Given the description of an element on the screen output the (x, y) to click on. 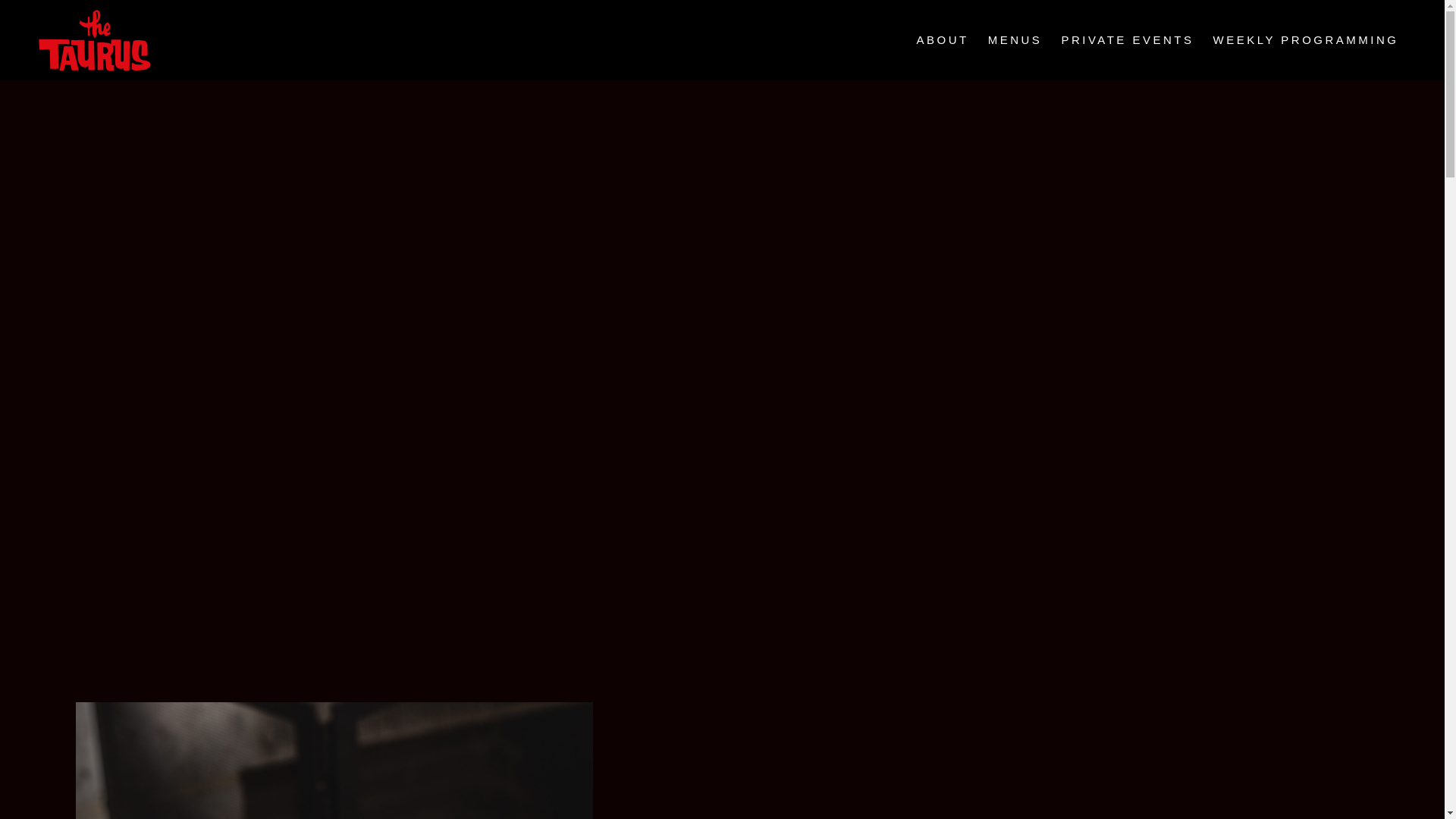
ABOUT (942, 39)
MENUS (1014, 39)
PRIVATE EVENTS (1126, 39)
WEEKLY PROGRAMMING (1305, 39)
